Given the description of an element on the screen output the (x, y) to click on. 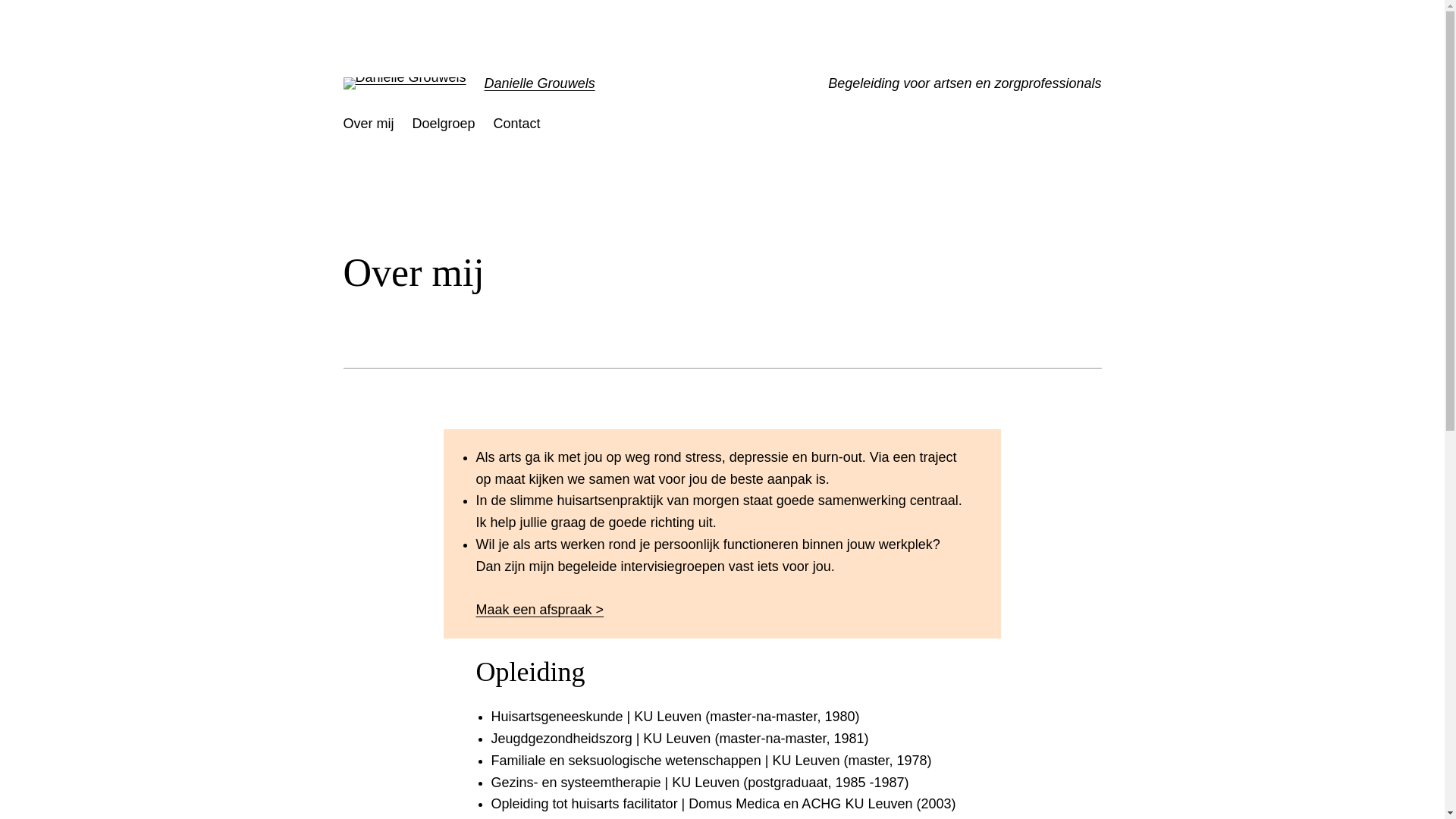
Maak een afspraak > Element type: text (540, 609)
Over mij Element type: text (367, 123)
Danielle Grouwels Element type: text (539, 83)
Contact Element type: text (516, 123)
Doelgroep Element type: text (443, 123)
